Given the description of an element on the screen output the (x, y) to click on. 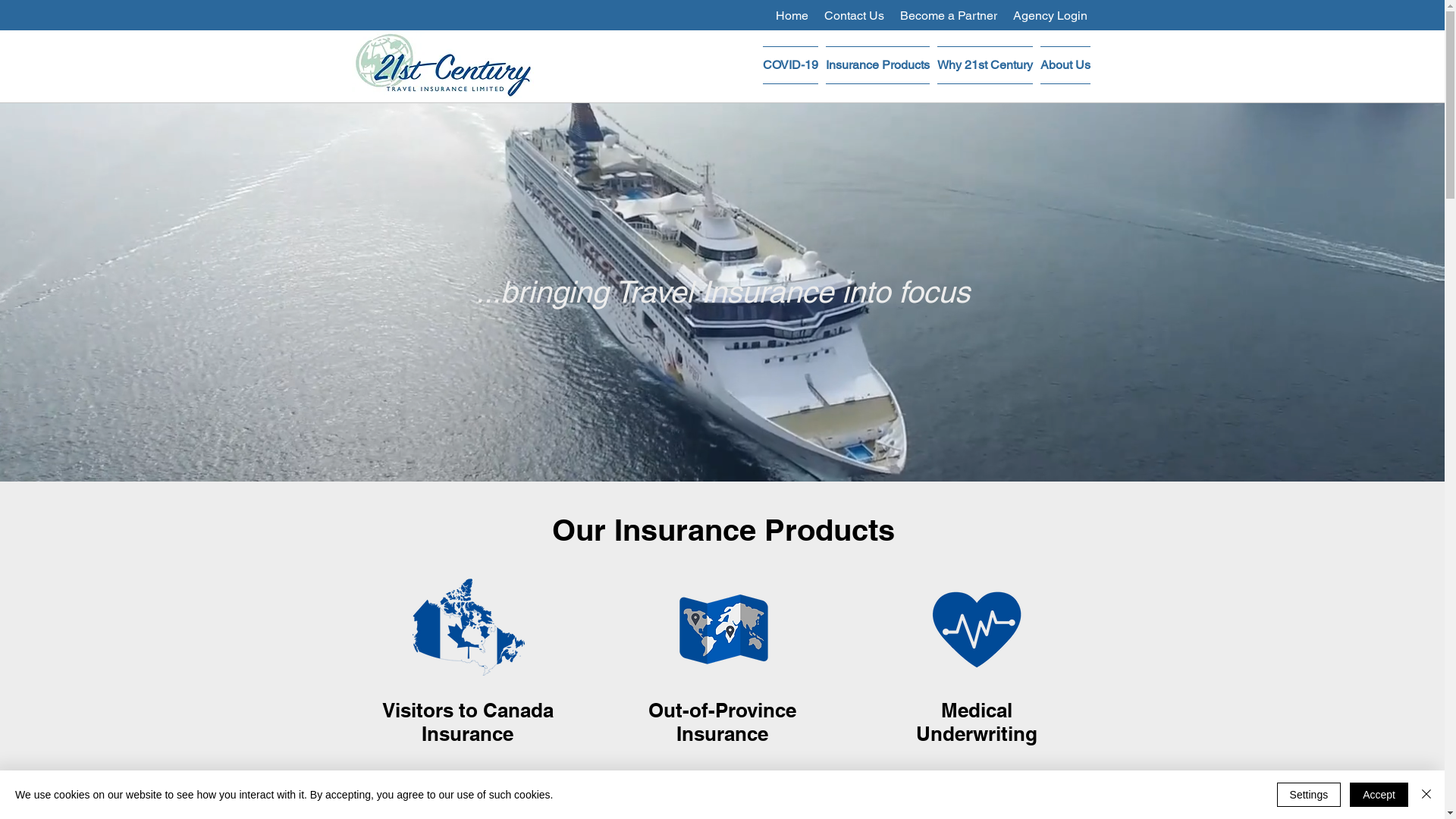
Agency Login Element type: text (1049, 14)
Why 21st Century Element type: text (983, 65)
Home Element type: text (791, 14)
COVID-19 Element type: text (789, 65)
Settings Element type: text (1309, 794)
About Us Element type: text (1062, 65)
Contact Us Element type: text (854, 14)
Accept Element type: text (1378, 794)
Become a Partner Element type: text (947, 14)
Insurance Products Element type: text (877, 65)
